Given the description of an element on the screen output the (x, y) to click on. 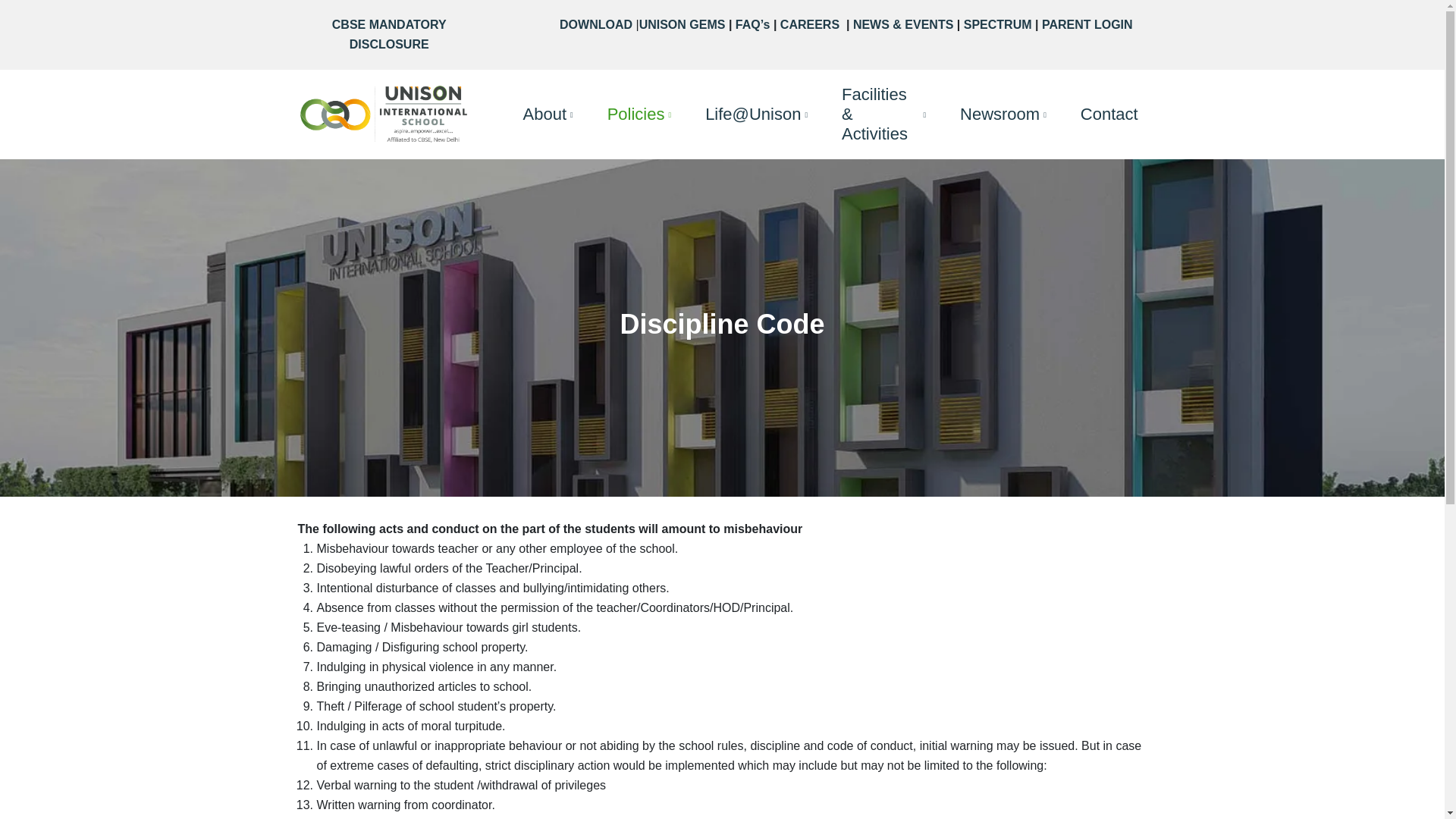
Discipline Code (722, 327)
SPECTRUM (997, 24)
CBSE MANDATORY DISCLOSURE (388, 34)
CAREERS  (811, 24)
UNISON GEMS (682, 24)
DOWNLOAD (595, 24)
PARENT LOGIN (1087, 24)
